Given the description of an element on the screen output the (x, y) to click on. 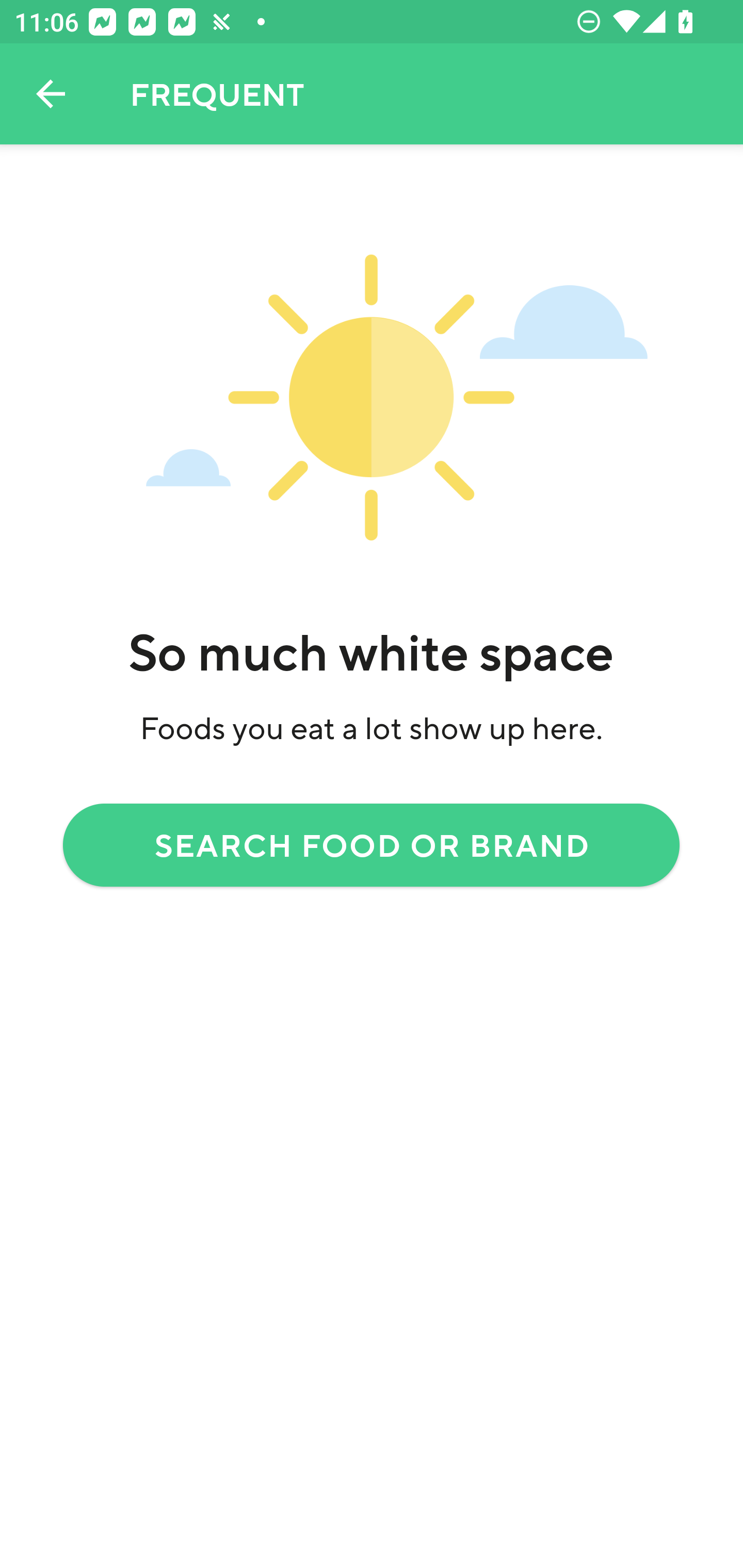
Navigate up (50, 93)
SEARCH FOOD OR BRAND (371, 843)
